Given the description of an element on the screen output the (x, y) to click on. 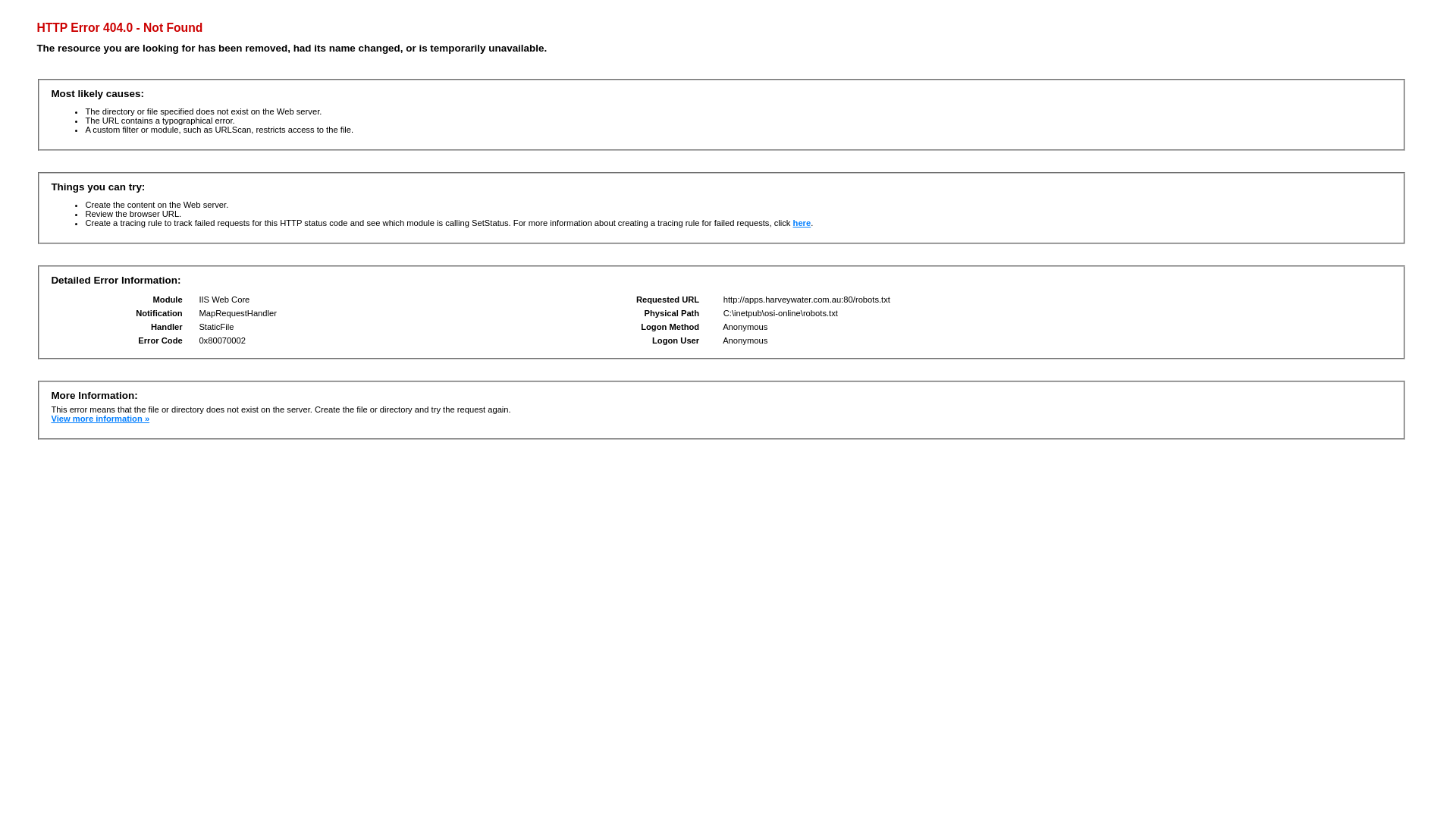
here Element type: text (802, 222)
